Given the description of an element on the screen output the (x, y) to click on. 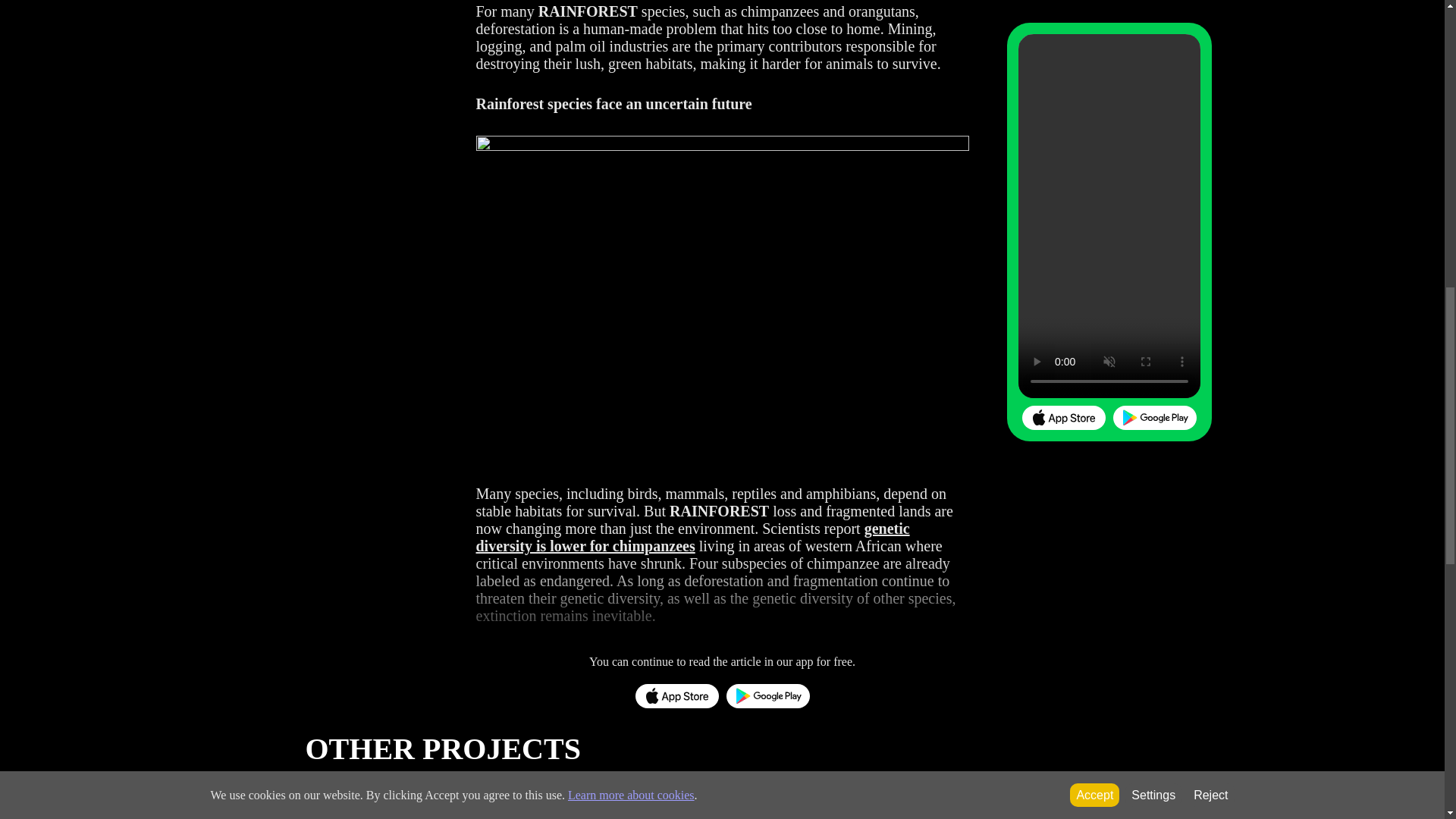
Can We Save Orangutans? (1237, 798)
genetic diversity is lower for chimpanzees (693, 537)
An Update on the Amazon (403, 798)
How Healthy Are Rainforests? (1030, 798)
The Truth About Tea (821, 798)
Parrots in Peril: Save Rainforest Birds (612, 798)
